Given the description of an element on the screen output the (x, y) to click on. 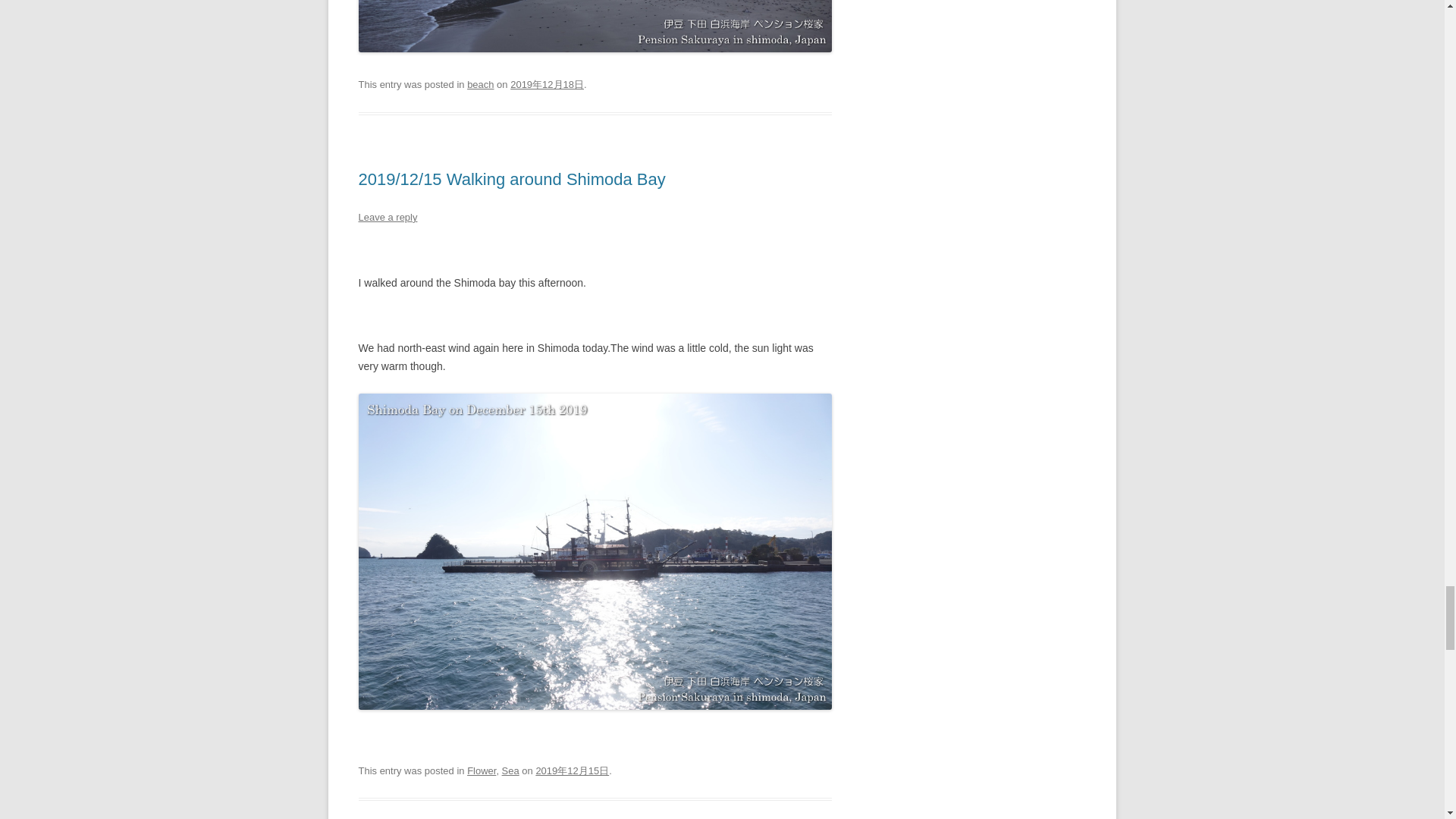
beach (480, 84)
11:58 PM (547, 84)
Leave a reply (387, 216)
10:14 PM (571, 769)
Sea (510, 769)
Flower (481, 769)
